Given the description of an element on the screen output the (x, y) to click on. 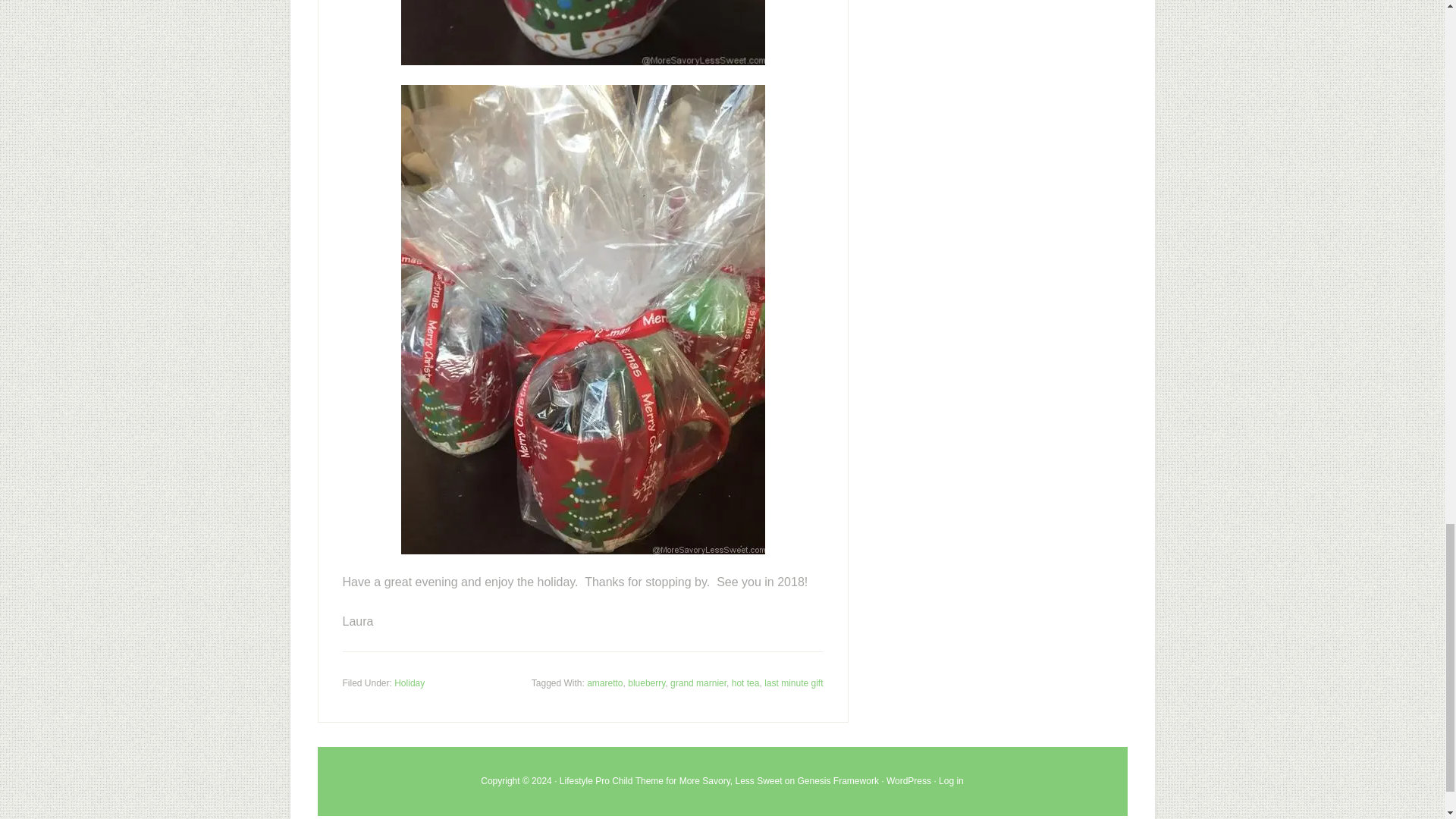
hot tea (746, 683)
blueberry (646, 683)
grand marnier (697, 683)
last minute gift (793, 683)
WordPress (908, 780)
Holiday (409, 683)
Log in (951, 780)
Genesis Framework (838, 780)
amaretto (604, 683)
Lifestyle Pro Child Theme for More Savory, Less Sweet (671, 780)
